Given the description of an element on the screen output the (x, y) to click on. 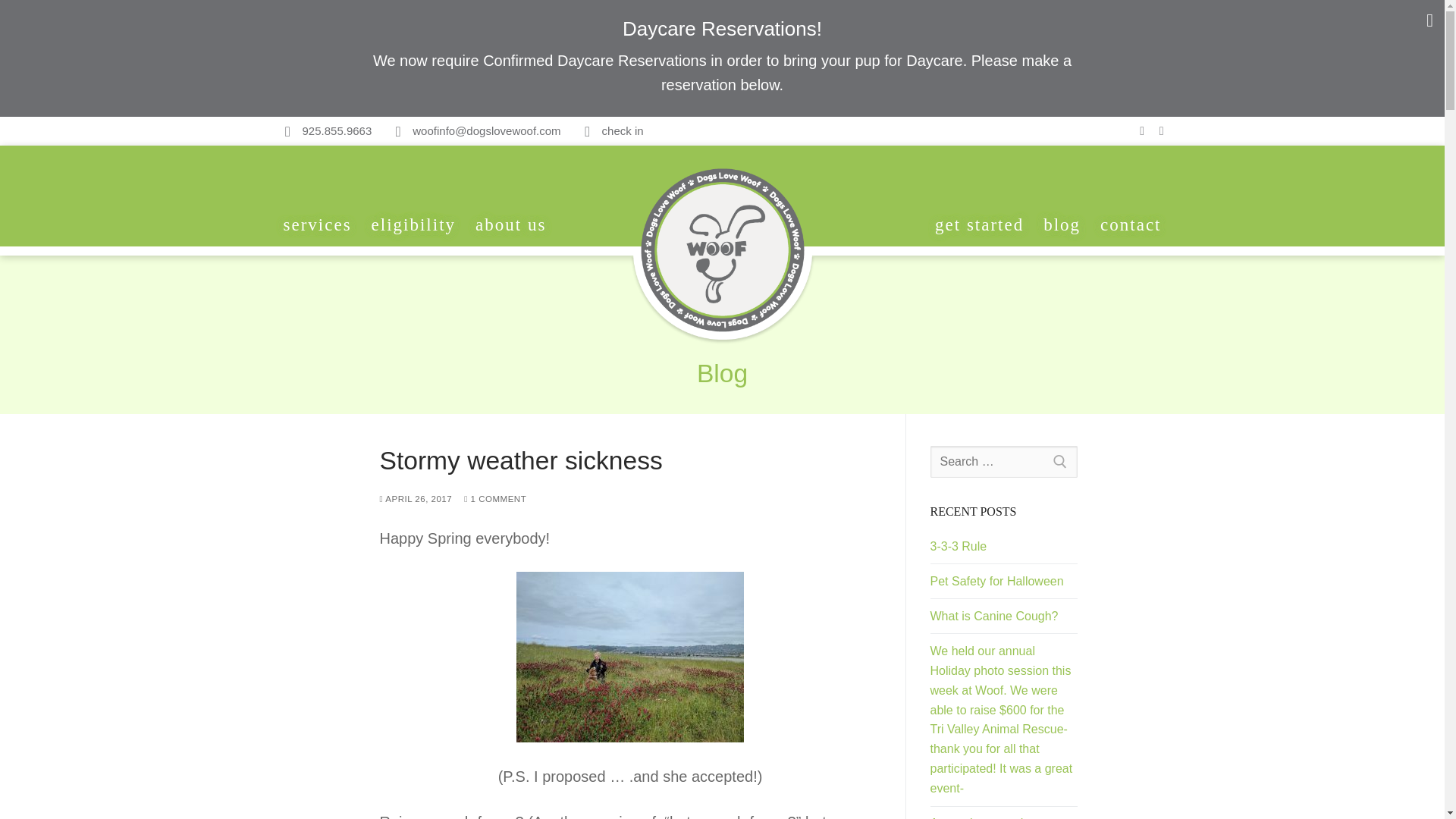
925.855.9663 (322, 131)
Search for: (1003, 461)
services (317, 224)
Instagram (1161, 131)
Facebook (1141, 131)
eligibility (413, 224)
contact (1130, 224)
about us (510, 224)
blog (1061, 224)
get started (978, 224)
